Given the description of an element on the screen output the (x, y) to click on. 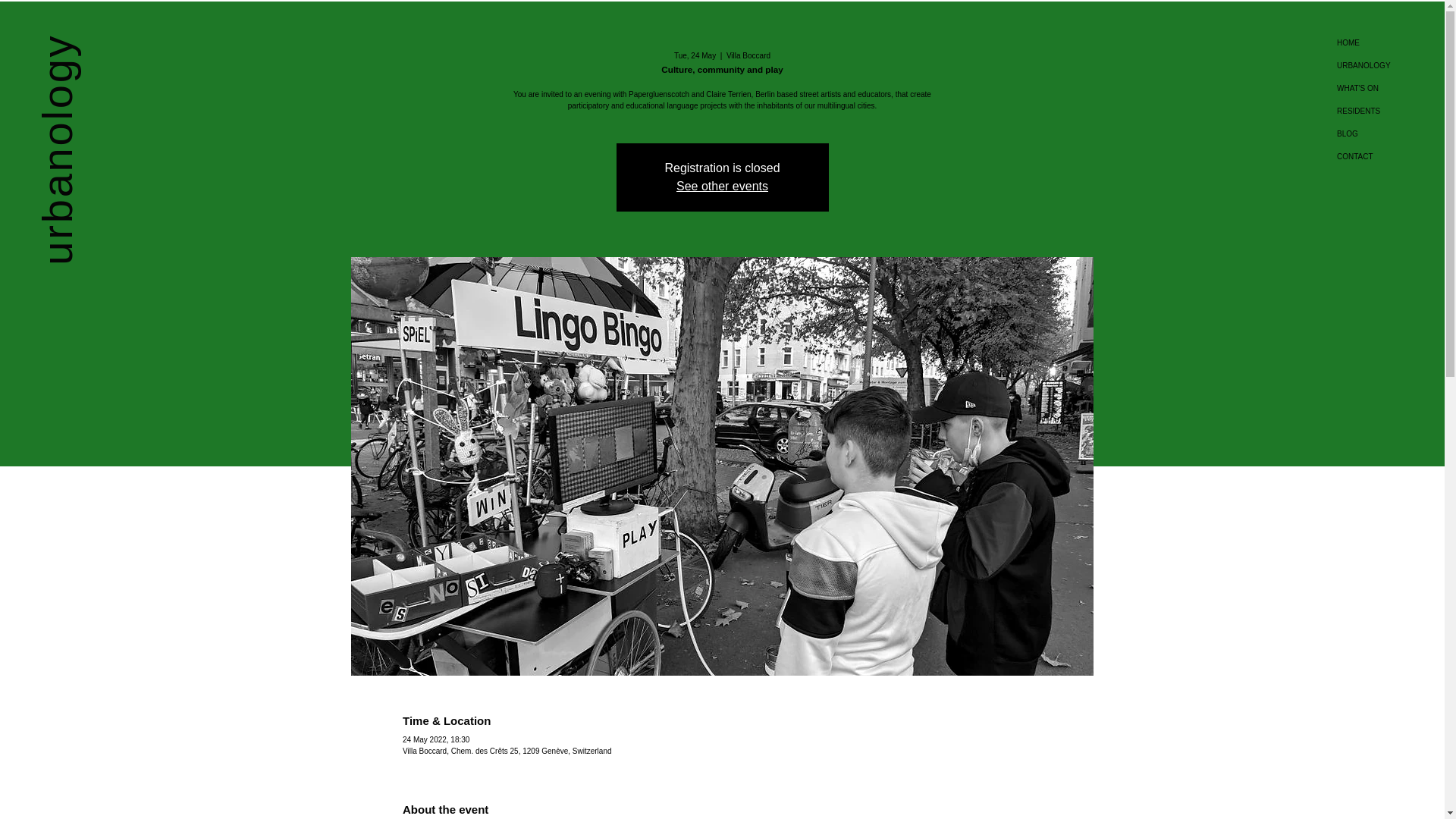
HOME (1389, 42)
urbanology (148, 57)
CONTACT (1389, 156)
See other events (722, 185)
RESIDENTS (1389, 110)
URBANOLOGY (1389, 65)
BLOG (1389, 133)
WHAT'S ON (1389, 87)
